Given the description of an element on the screen output the (x, y) to click on. 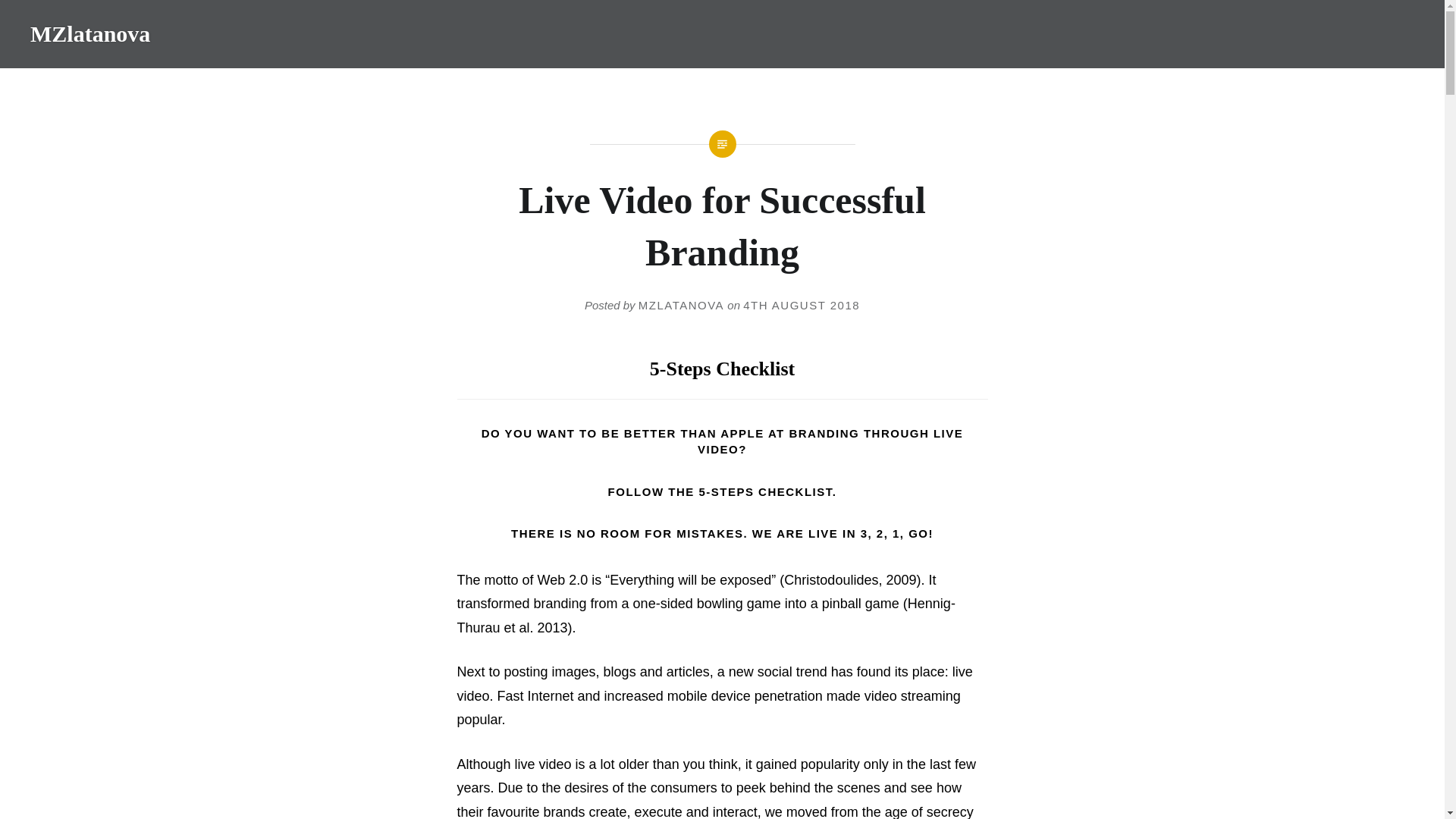
MZlatanova (89, 33)
4TH AUGUST 2018 (801, 305)
MZLATANOVA (681, 305)
